Given the description of an element on the screen output the (x, y) to click on. 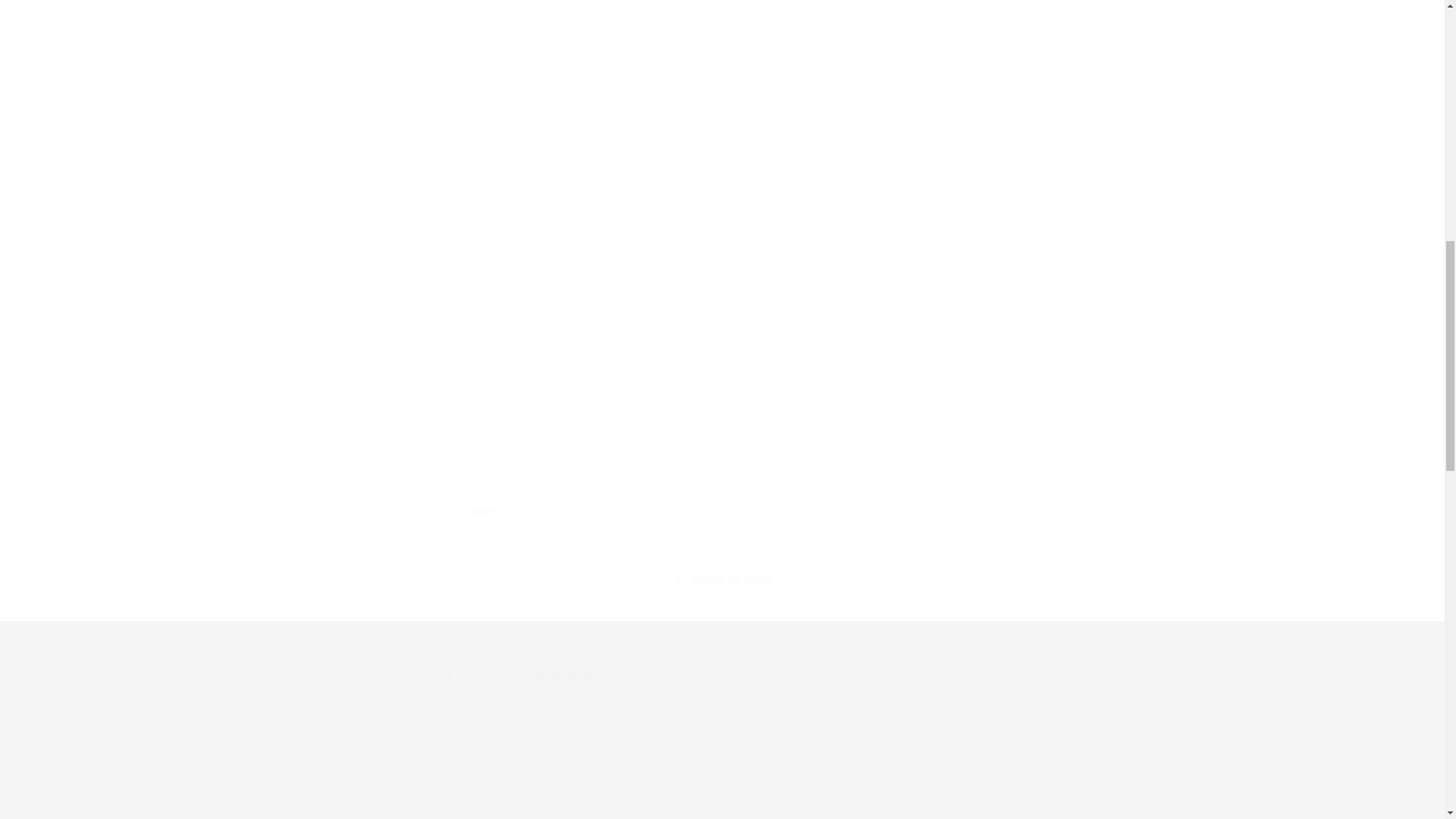
YouTube video player (659, 224)
Share (721, 511)
